Given the description of an element on the screen output the (x, y) to click on. 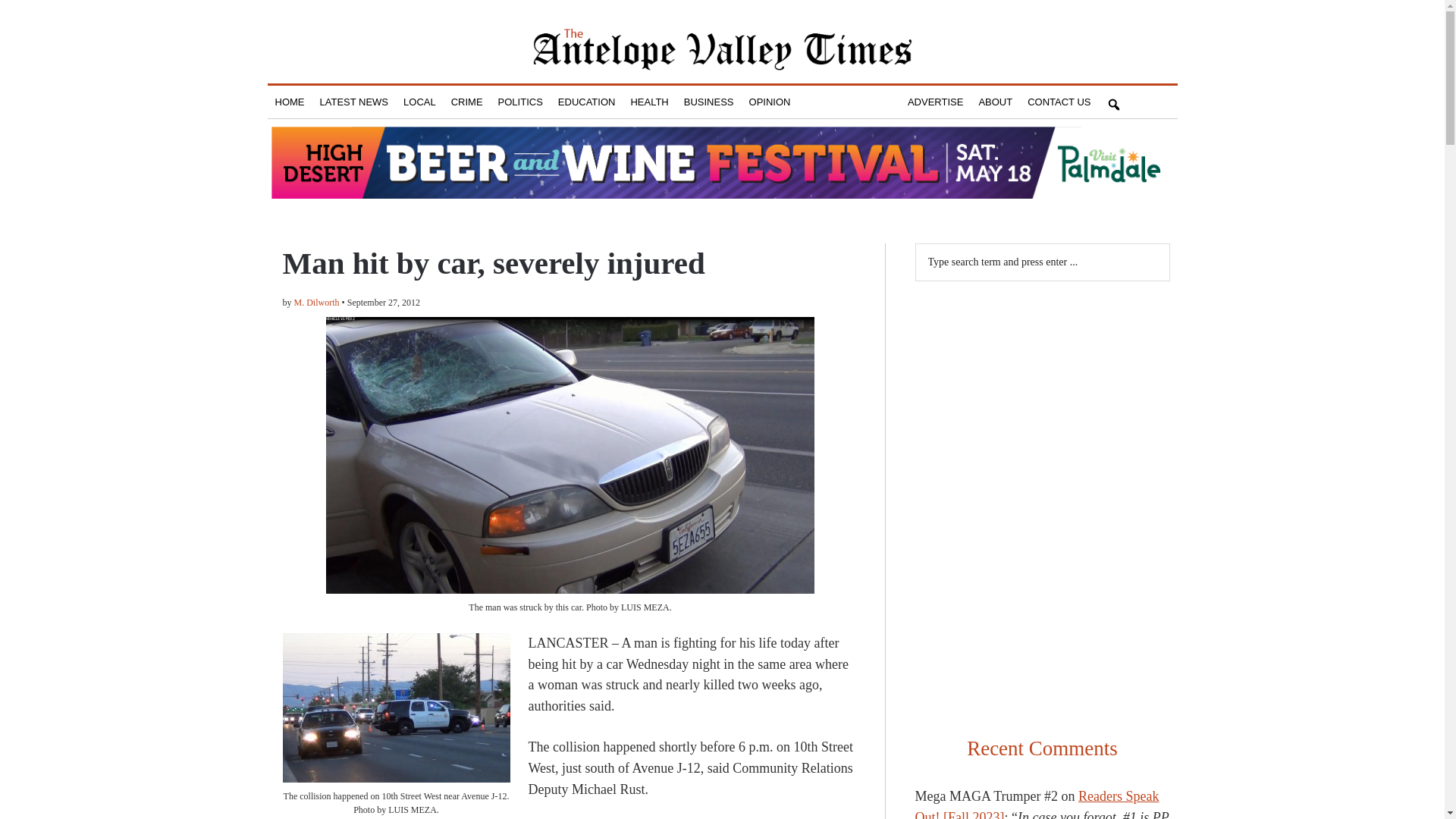
HOME (288, 101)
Advertisement (1041, 395)
BUSINESS (709, 101)
man hit by car lancaster 2 (395, 707)
LOCAL (420, 101)
HEALTH (649, 101)
The Antelope Valley Times (721, 49)
POLITICS (520, 101)
OPINION (769, 101)
EDUCATION (586, 101)
SHOW SEARCH (1112, 101)
ADVERTISE (935, 101)
M. Dilworth (316, 302)
CRIME (467, 101)
